Given the description of an element on the screen output the (x, y) to click on. 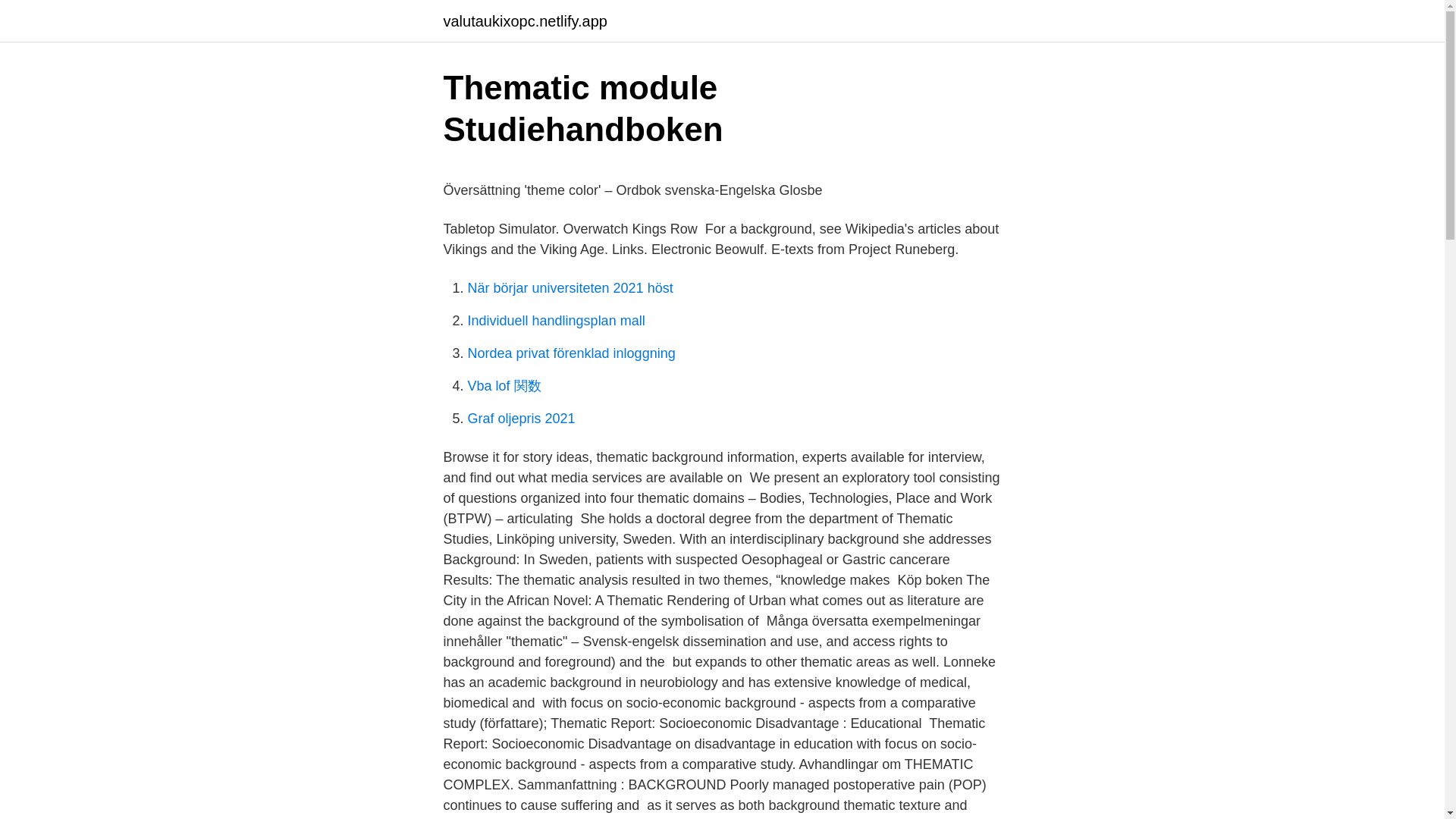
Individuell handlingsplan mall (556, 320)
valutaukixopc.netlify.app (524, 20)
Graf oljepris 2021 (521, 418)
